Given the description of an element on the screen output the (x, y) to click on. 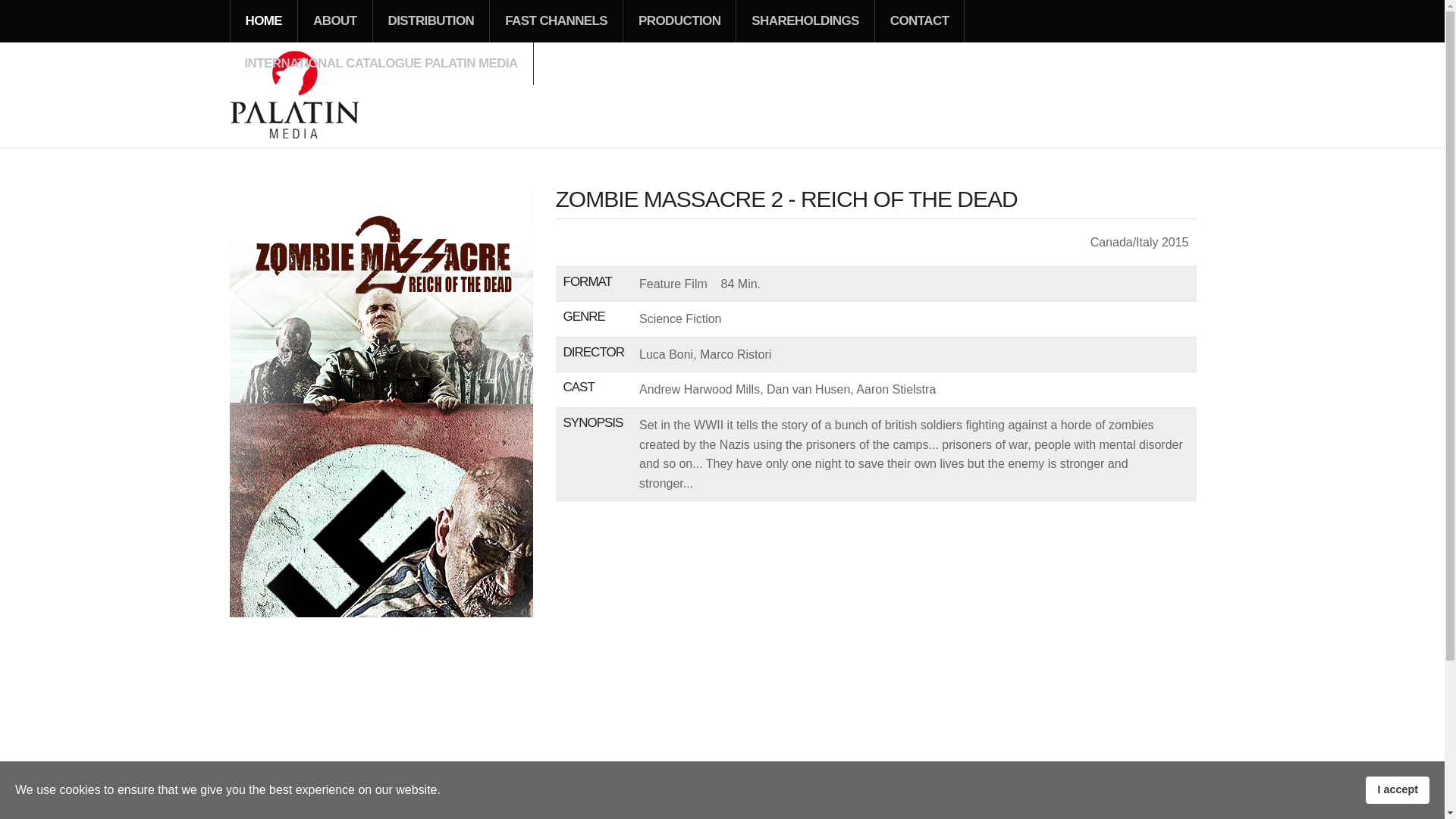
FAST CHANNELS (556, 21)
PRODUCTION (679, 21)
SHAREHOLDINGS (804, 21)
I accept (1397, 789)
ABOUT (334, 21)
INTERNATIONAL CATALOGUE PALATIN MEDIA (380, 63)
HOME (264, 21)
CONTACT (919, 21)
DISTRIBUTION (430, 21)
